Given the description of an element on the screen output the (x, y) to click on. 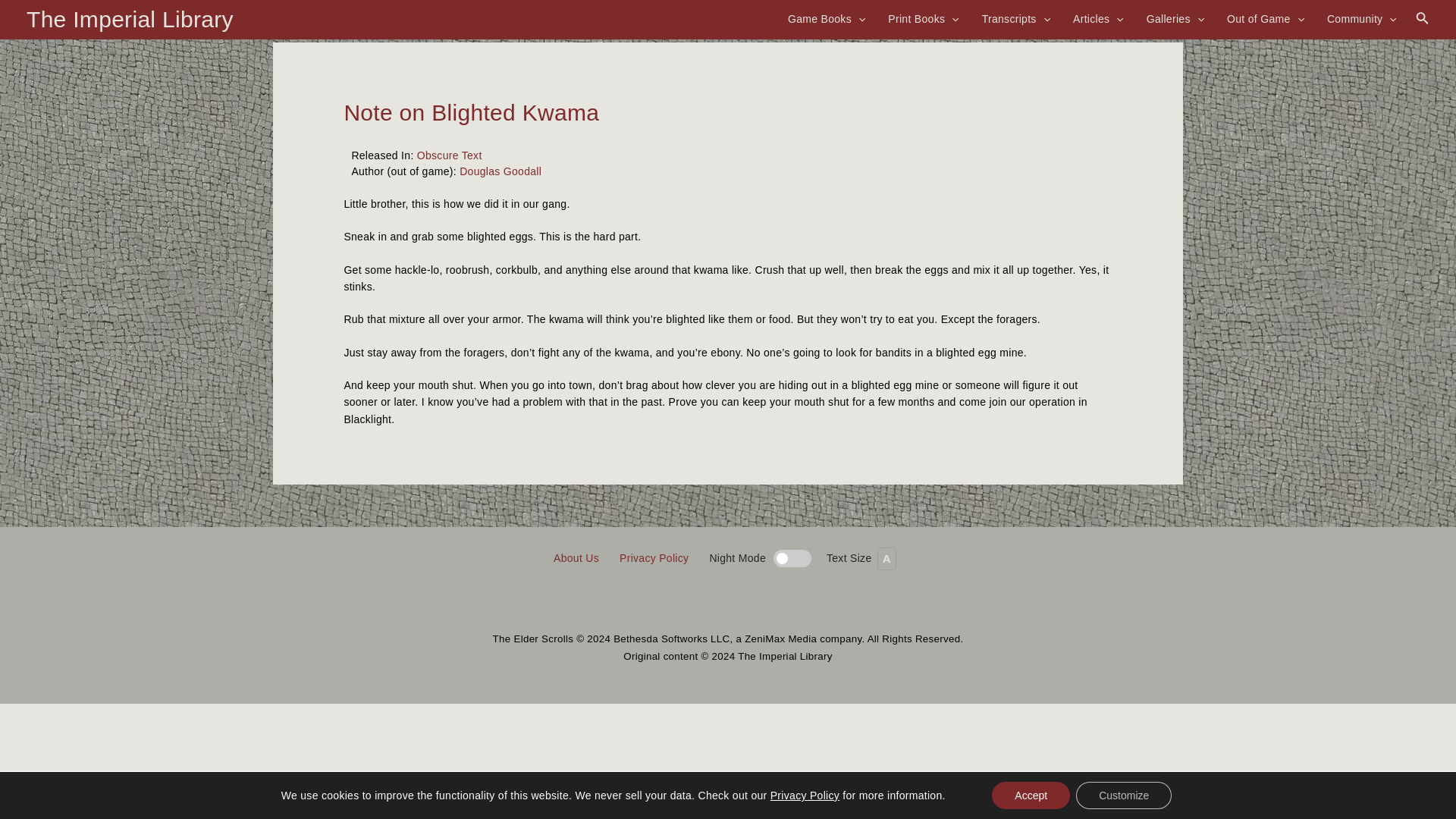
The Imperial Library (129, 18)
Print Books (922, 18)
Transcripts (1016, 18)
Articles (1097, 18)
Game Books (826, 18)
